Given the description of an element on the screen output the (x, y) to click on. 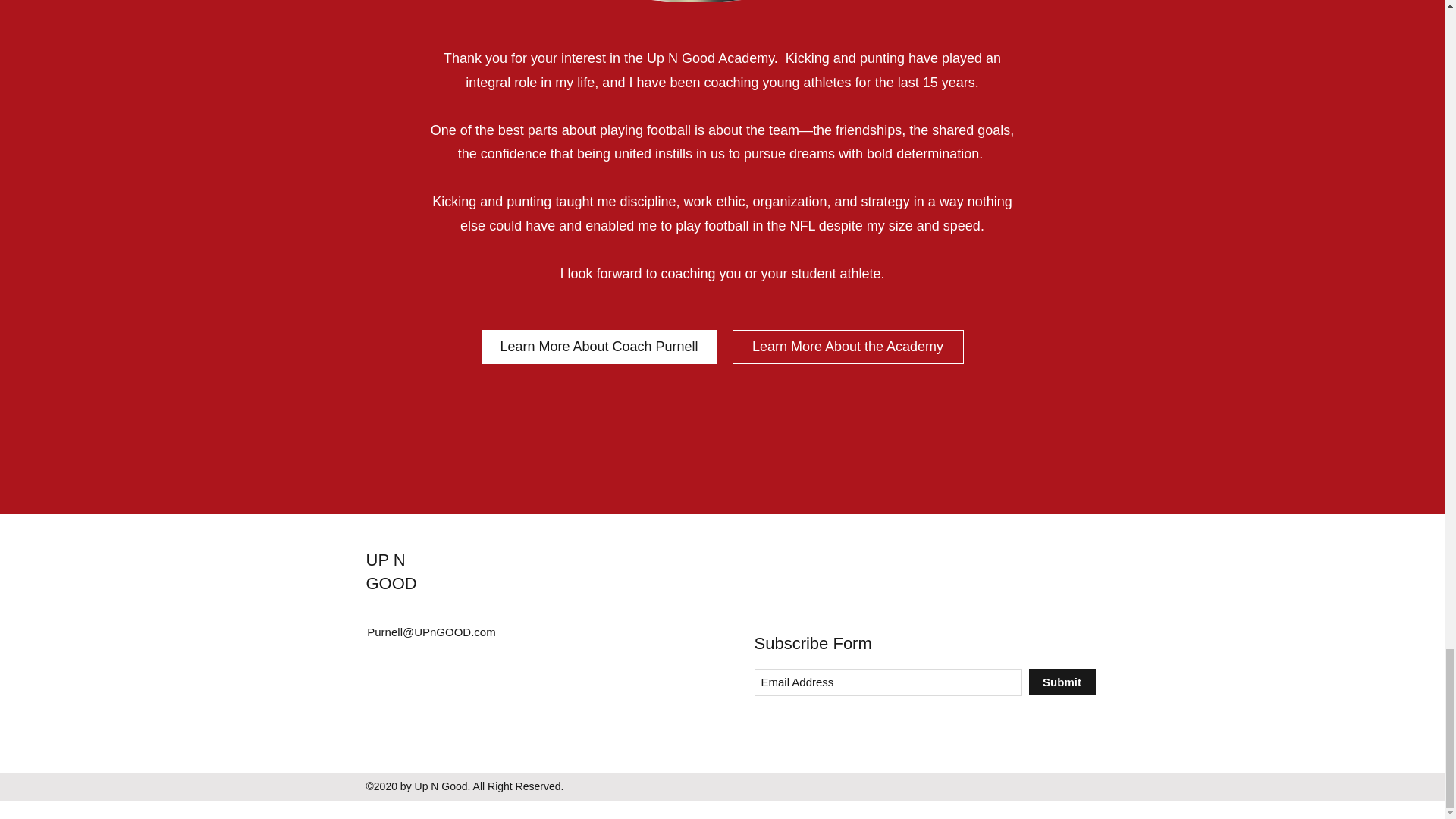
UP N GOOD (390, 571)
Learn More About Coach Purnell (598, 346)
Submit (1060, 682)
Learn More About the Academy (847, 346)
